Given the description of an element on the screen output the (x, y) to click on. 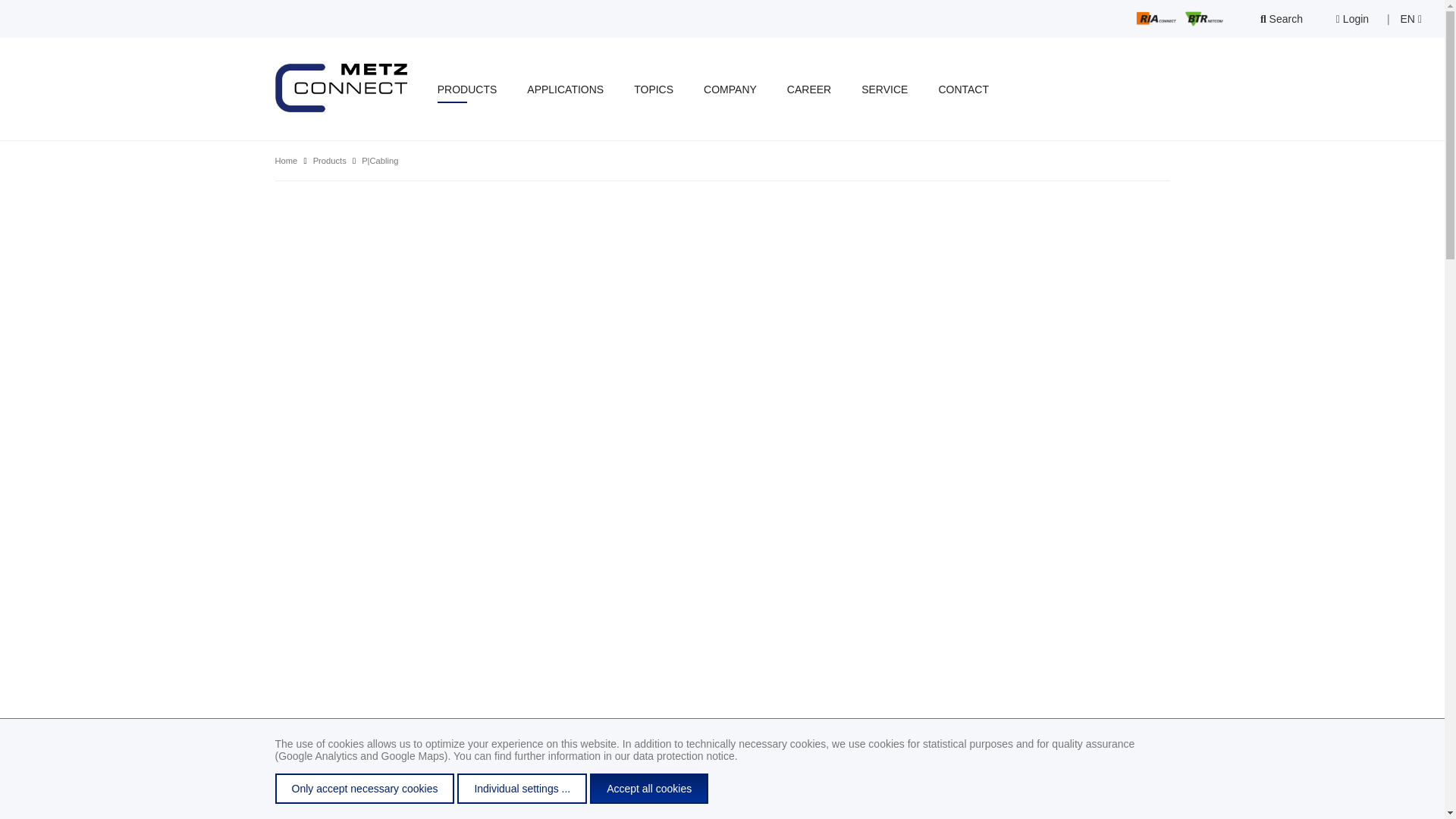
PRODUCTS (467, 89)
Login (1351, 18)
EN (1411, 18)
Search (1281, 18)
